Given the description of an element on the screen output the (x, y) to click on. 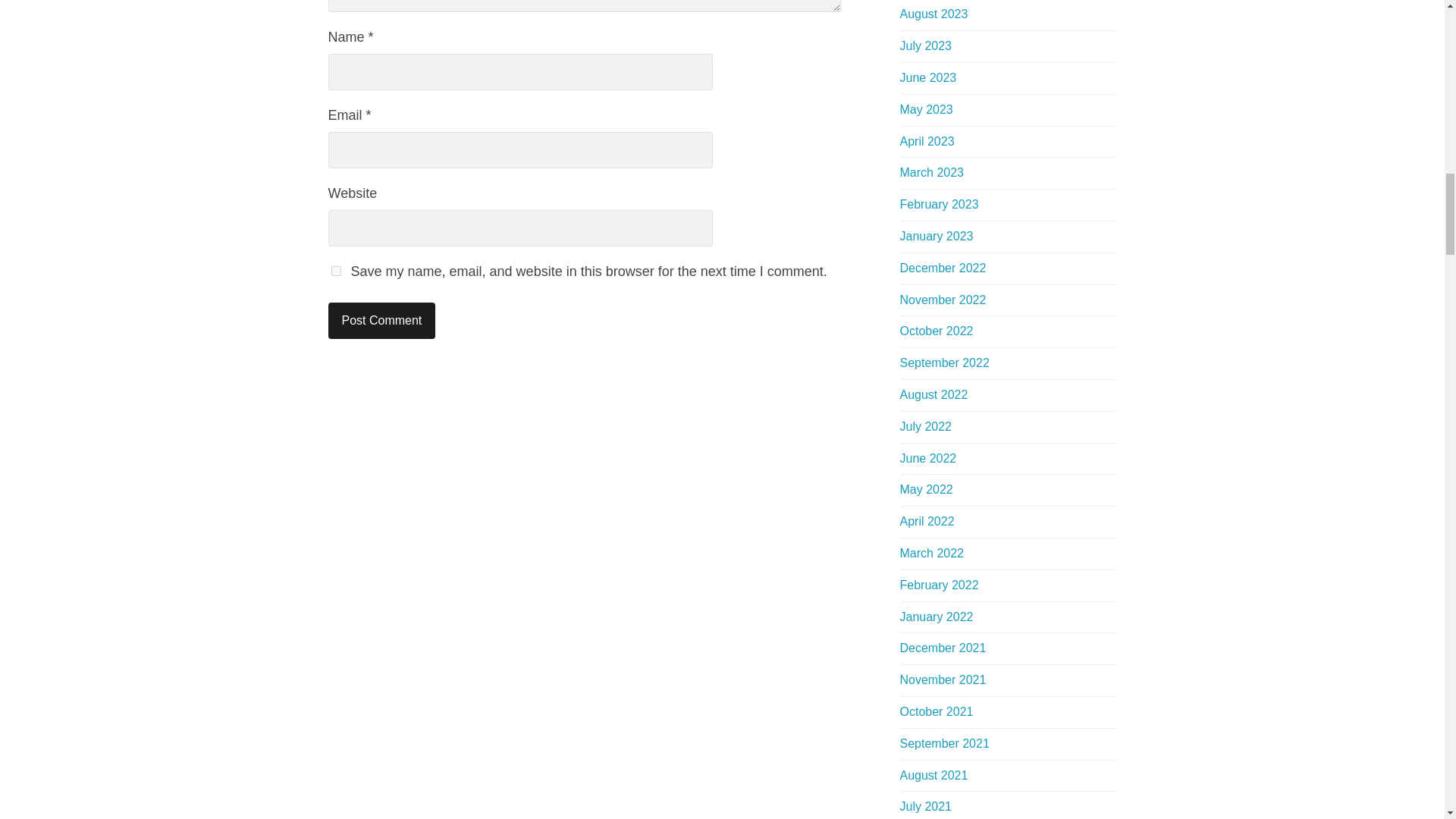
Post Comment (381, 320)
yes (335, 271)
Post Comment (381, 320)
